Given the description of an element on the screen output the (x, y) to click on. 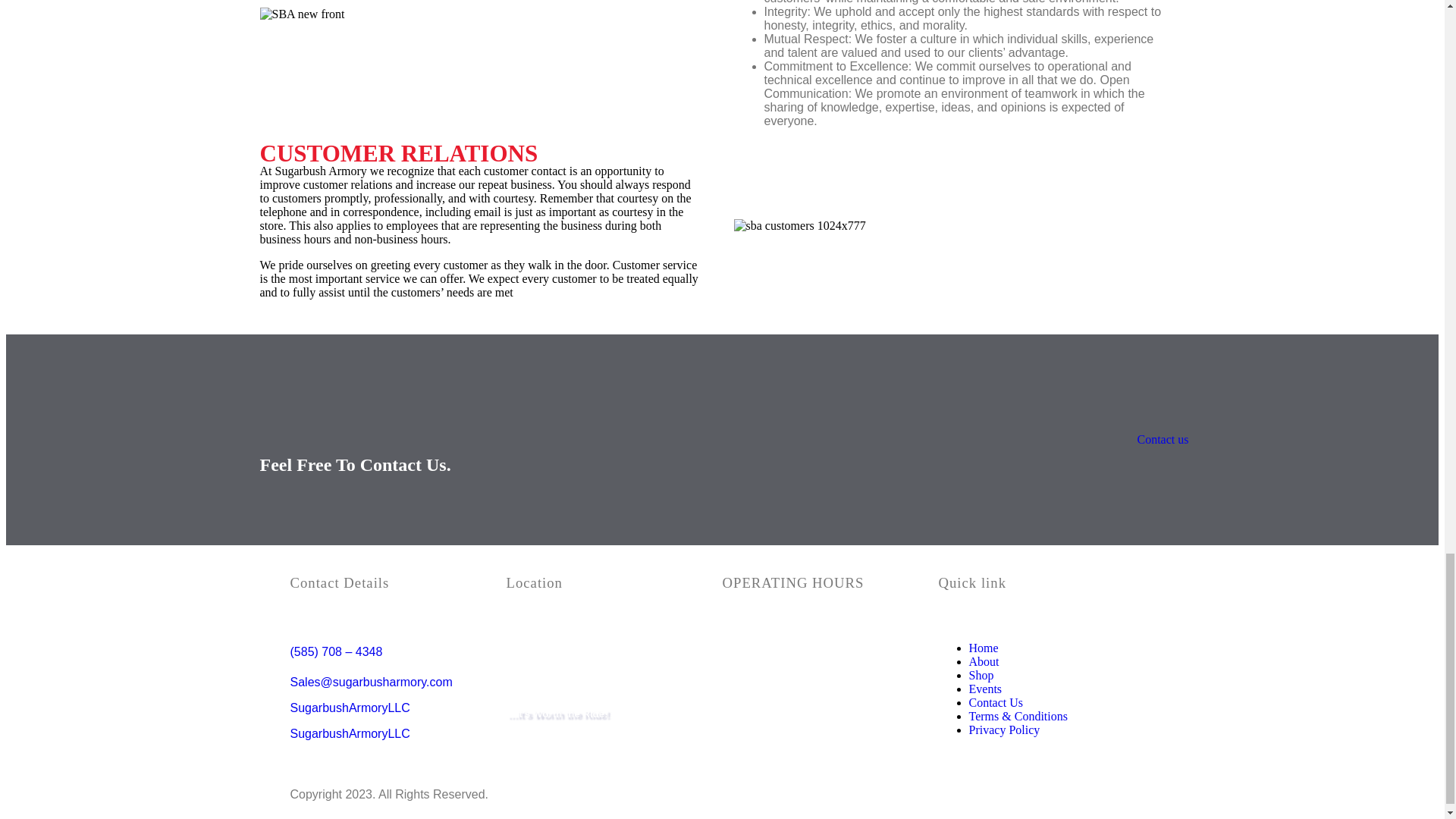
Contact us (1162, 439)
